Given the description of an element on the screen output the (x, y) to click on. 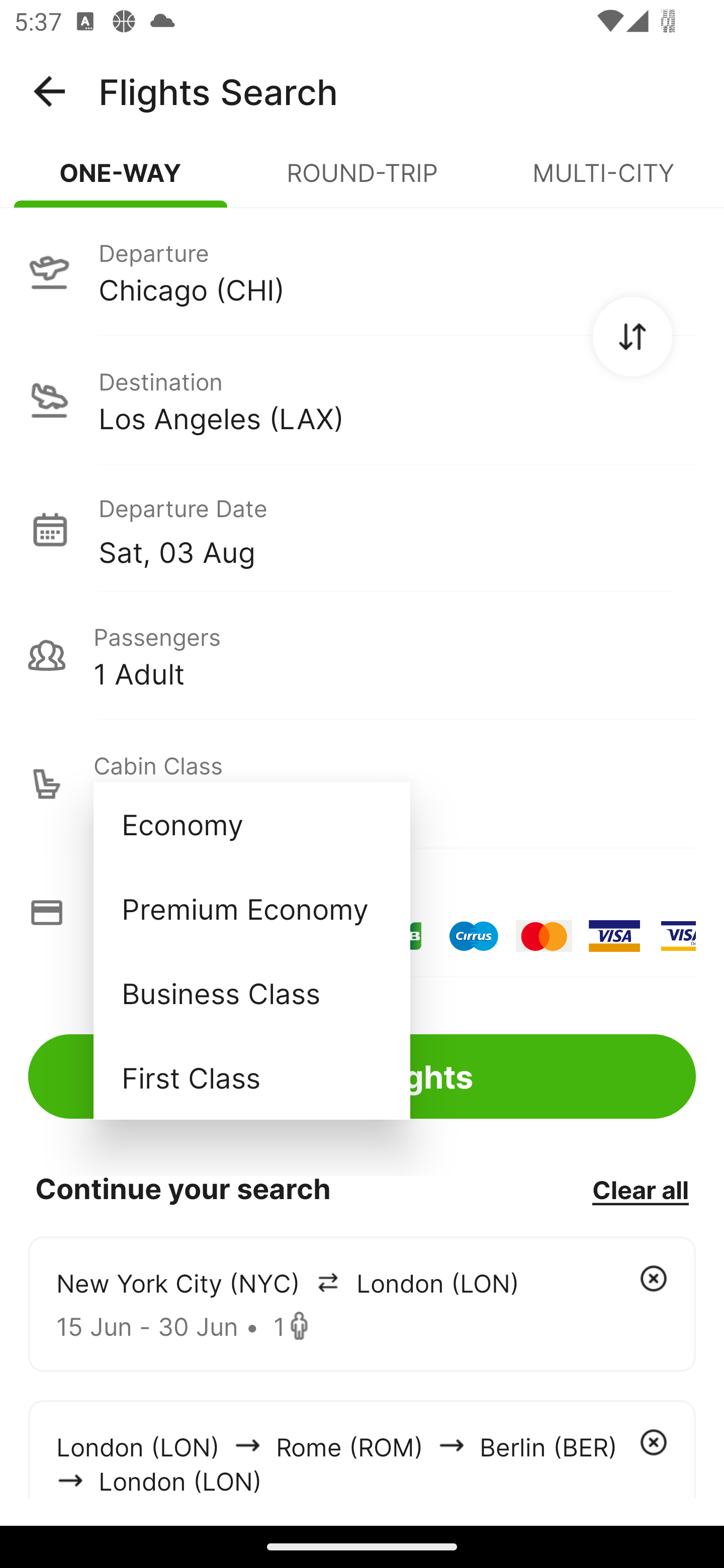
Economy (251, 824)
Premium Economy (251, 908)
Business Class (251, 992)
First Class (251, 1076)
